Given the description of an element on the screen output the (x, y) to click on. 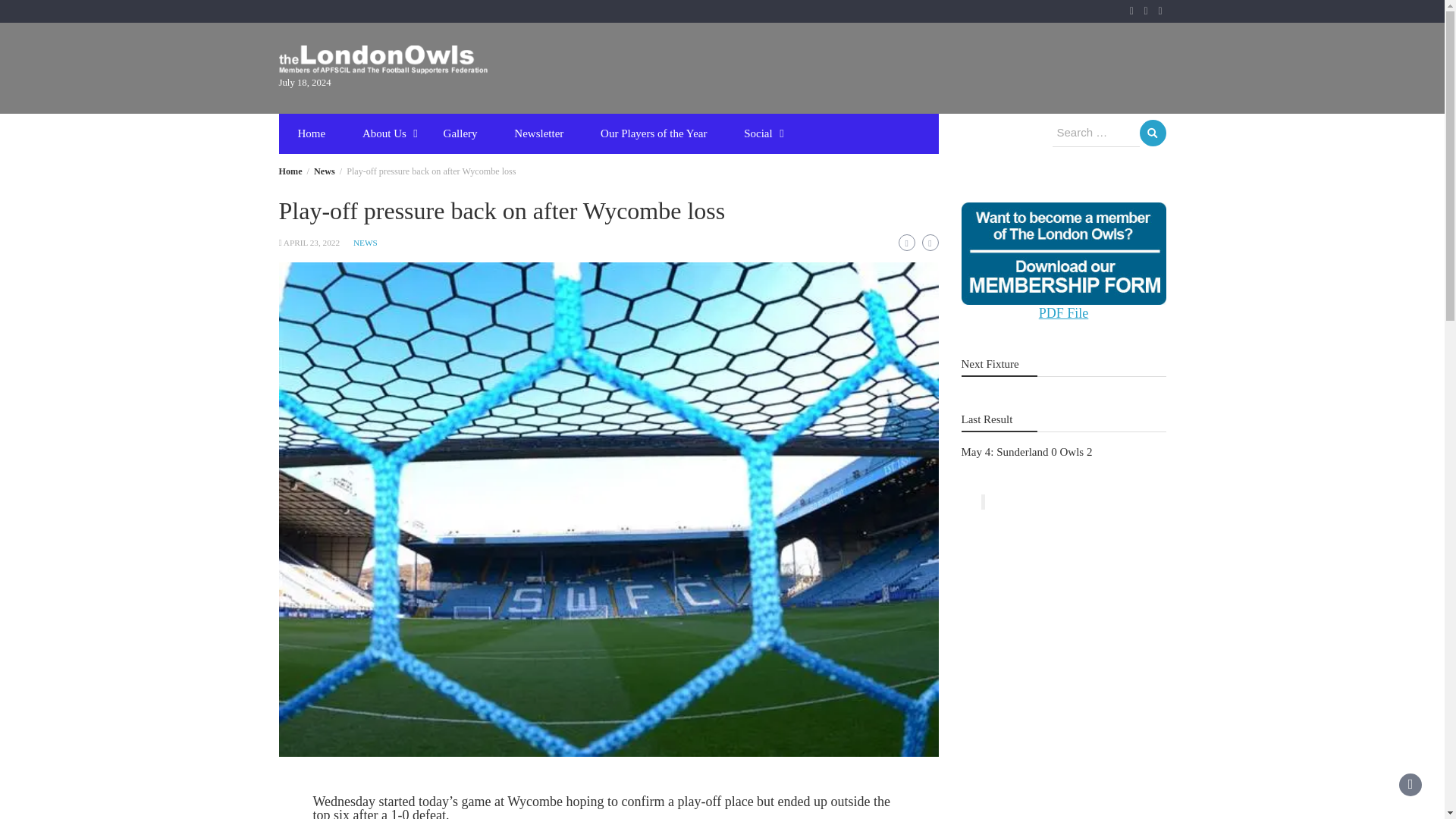
Home (290, 171)
Home (311, 133)
Social (758, 133)
Search (1152, 132)
NEWS (365, 242)
Gallery (460, 133)
Search (1152, 132)
Our Players of the Year (653, 133)
Newsletter (538, 133)
APRIL 23, 2022 (311, 242)
About Us (384, 133)
Search (1152, 132)
Search for: (1096, 133)
News (324, 171)
